Given the description of an element on the screen output the (x, y) to click on. 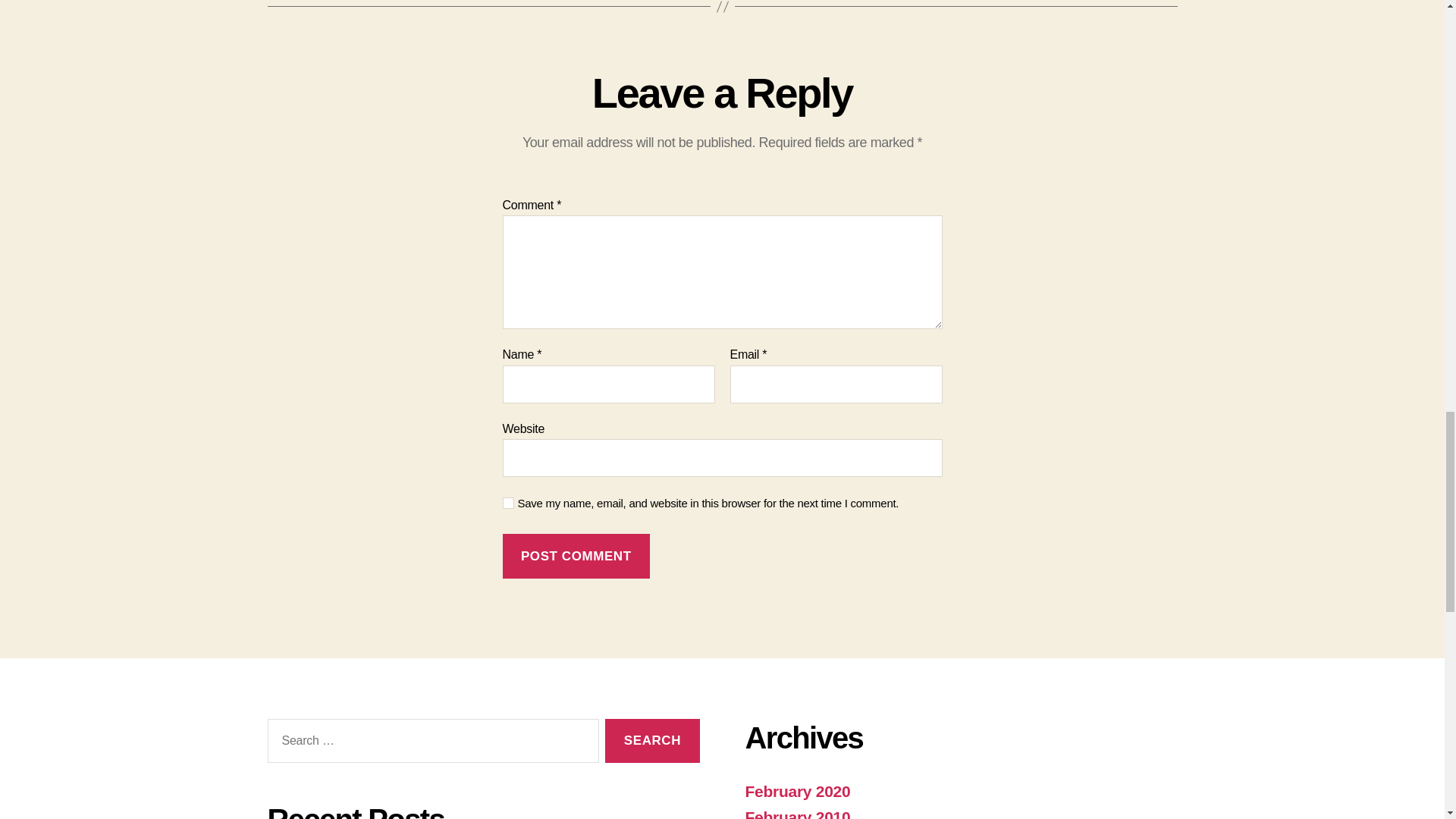
Search (651, 741)
Post Comment (575, 555)
Search (651, 741)
yes (507, 502)
